Given the description of an element on the screen output the (x, y) to click on. 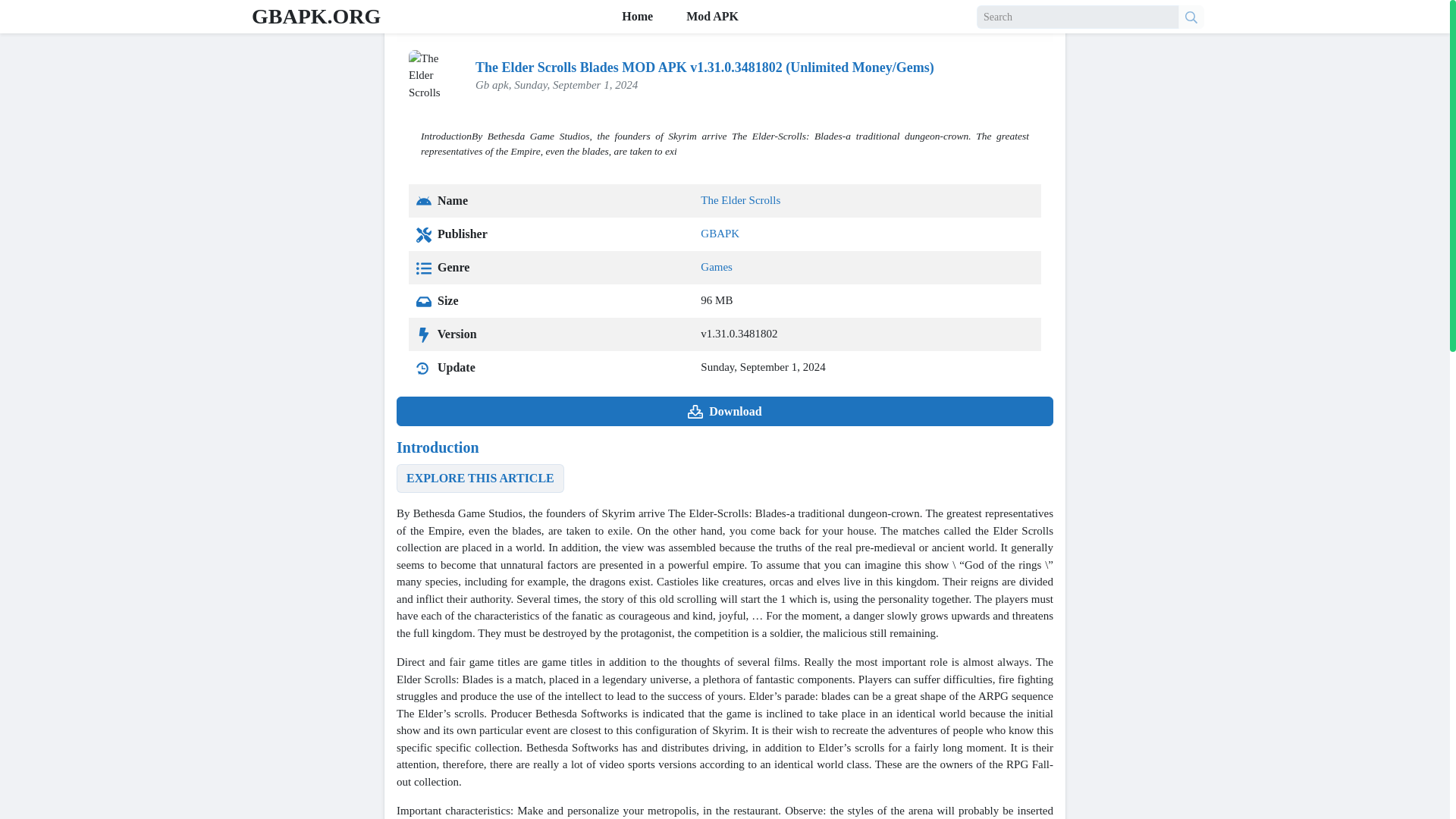
 Home (636, 16)
Developer by GBAPK (719, 233)
Home (410, 21)
EXPLORE THIS ARTICLE (480, 478)
Games (716, 266)
GBAPK (719, 233)
The Elder Scrolls (740, 200)
 Mod APK (711, 16)
The Elder Scrolls (740, 200)
Home (410, 21)
